Given the description of an element on the screen output the (x, y) to click on. 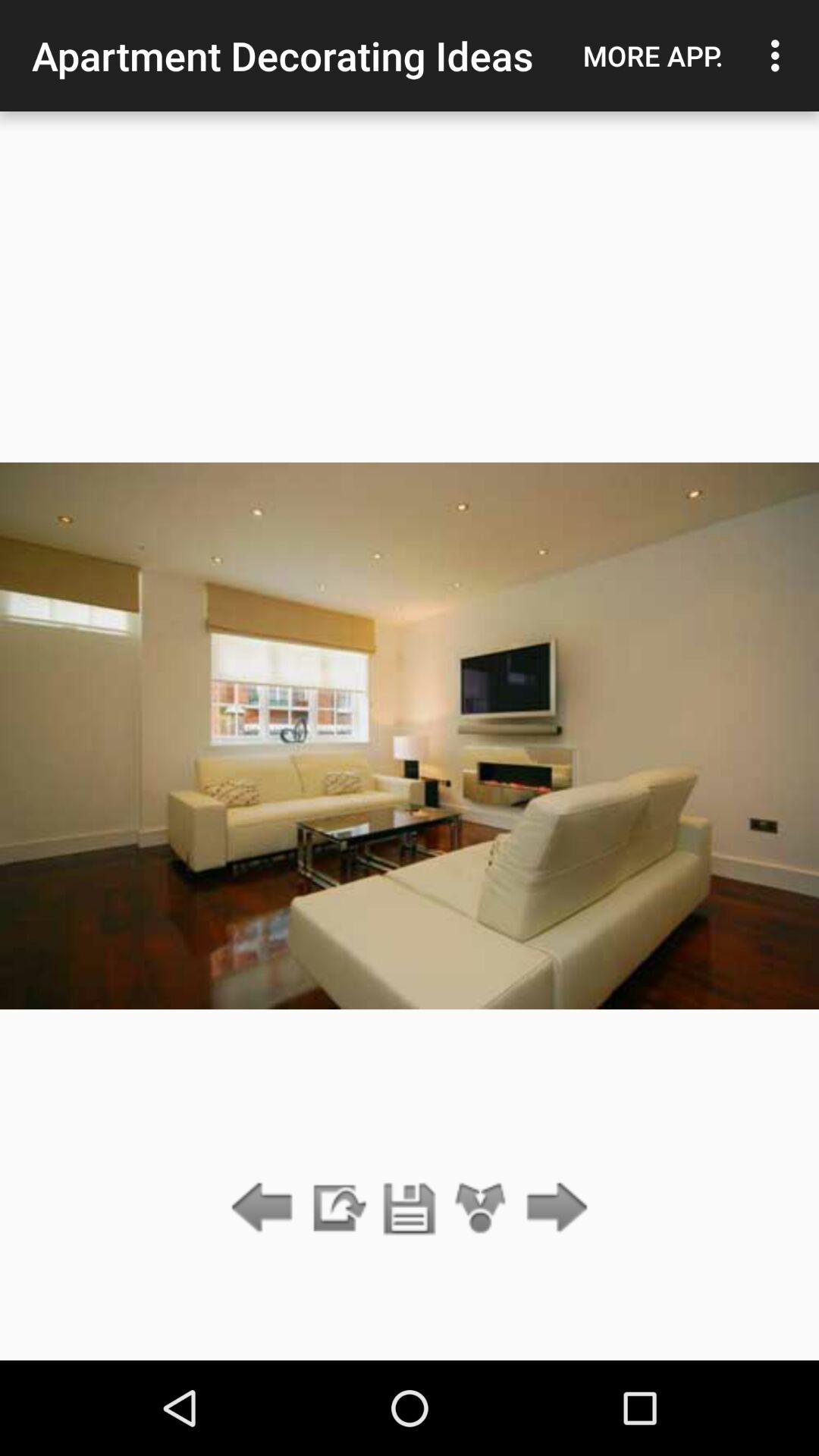
press the item below the apartment decorating ideas icon (337, 1208)
